Given the description of an element on the screen output the (x, y) to click on. 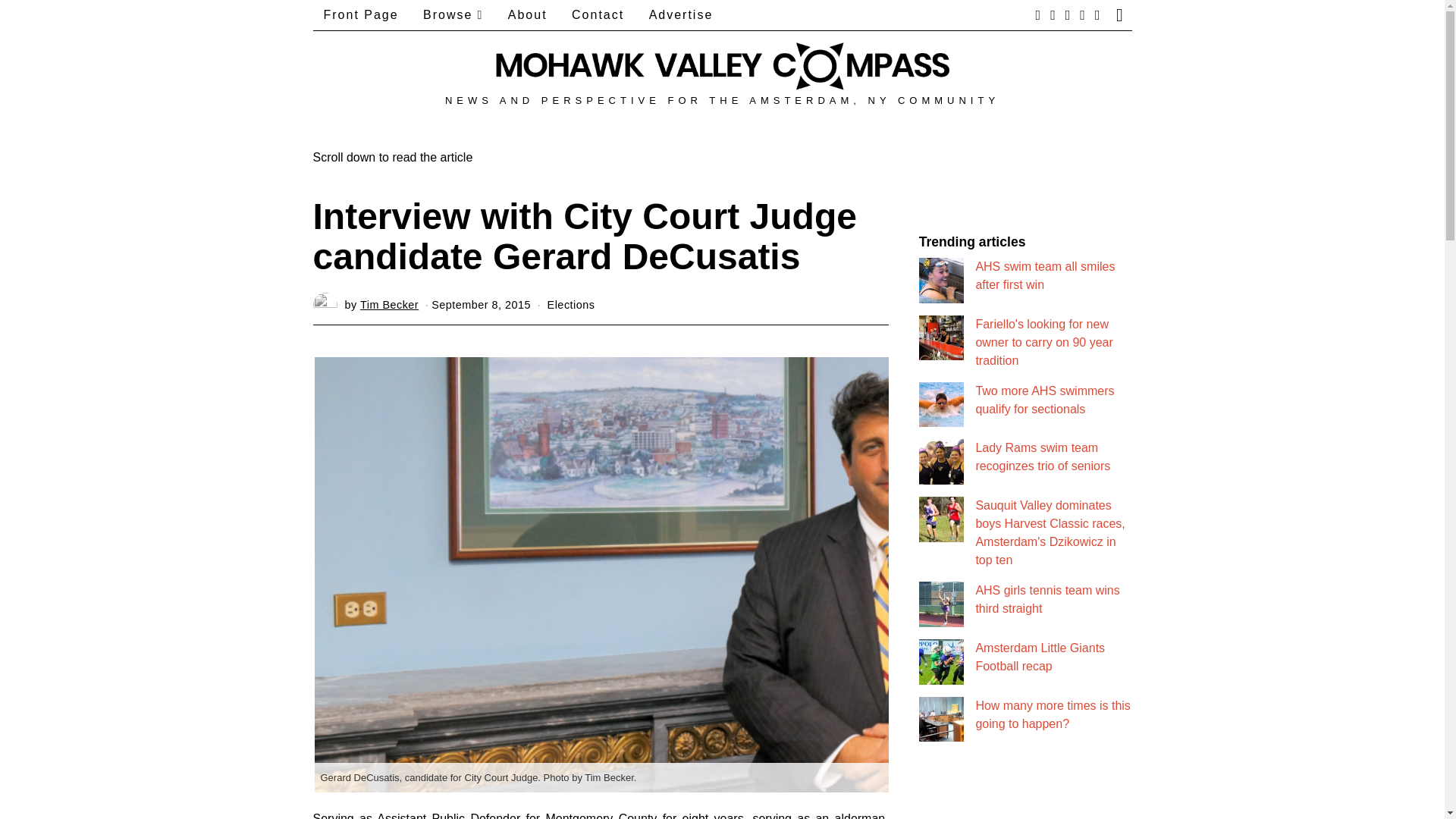
Tim Becker (389, 304)
Browse (452, 15)
Advertise (681, 15)
Contact (597, 15)
Front Page (361, 15)
AHS swim team all smiles after first win (1045, 275)
AHS swim team all smiles after first win (1045, 275)
Elections (571, 304)
About (527, 15)
